Given the description of an element on the screen output the (x, y) to click on. 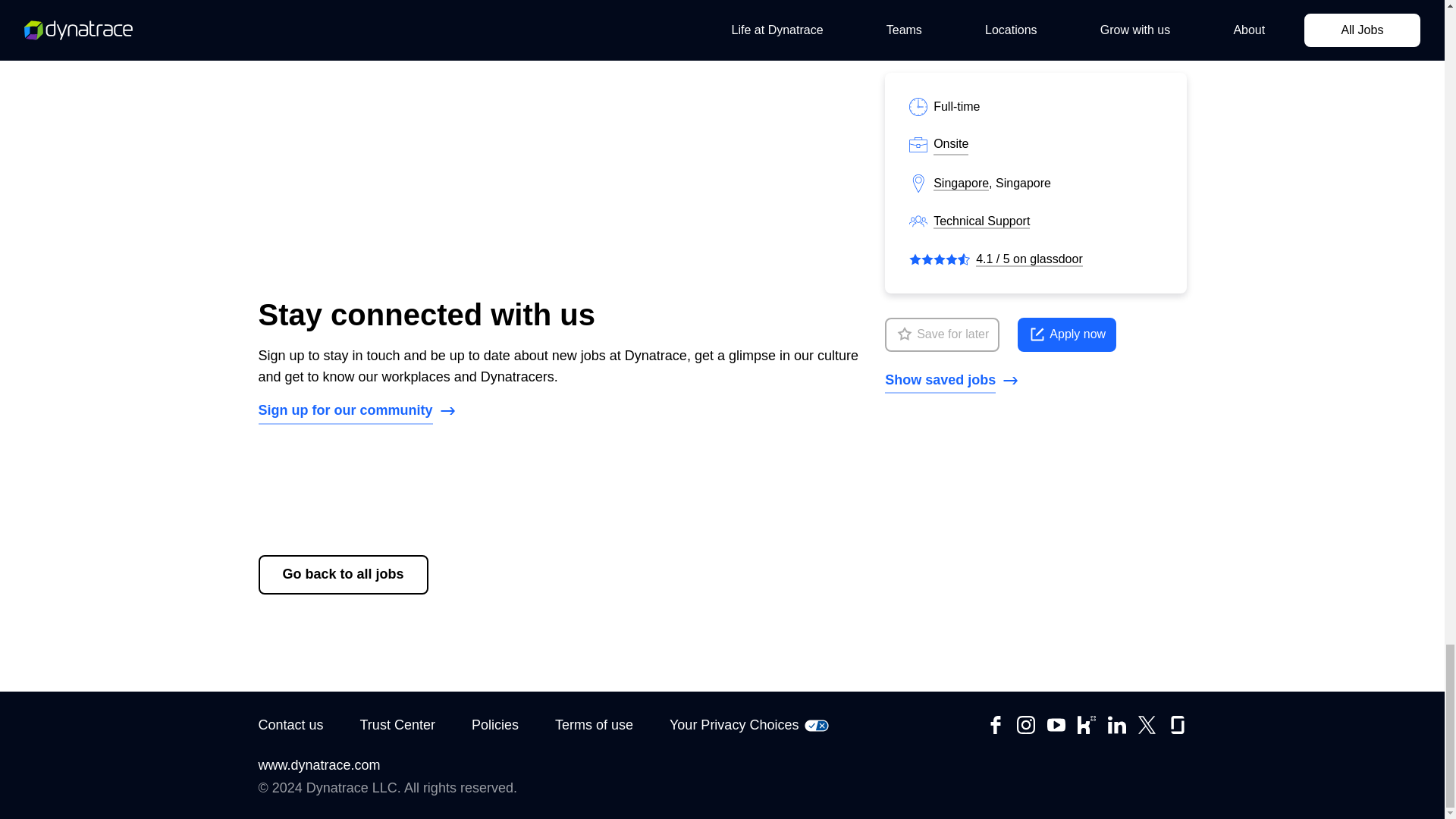
Your Privacy Choices (748, 725)
Terms of use (593, 725)
Contact us (290, 725)
Trust Center (397, 725)
Policies (494, 725)
